Given the description of an element on the screen output the (x, y) to click on. 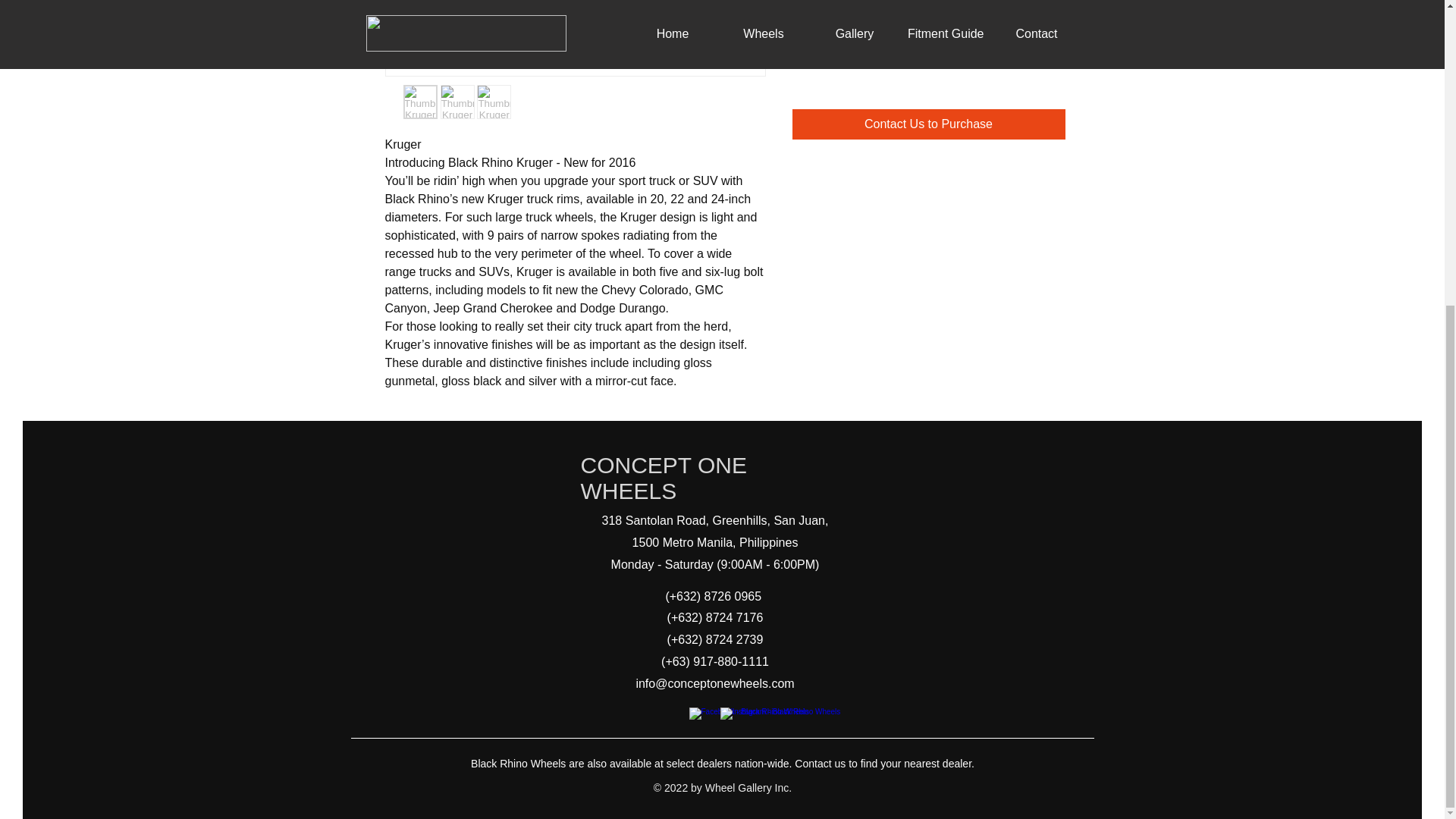
Contact Us to Purchase (928, 123)
